Given the description of an element on the screen output the (x, y) to click on. 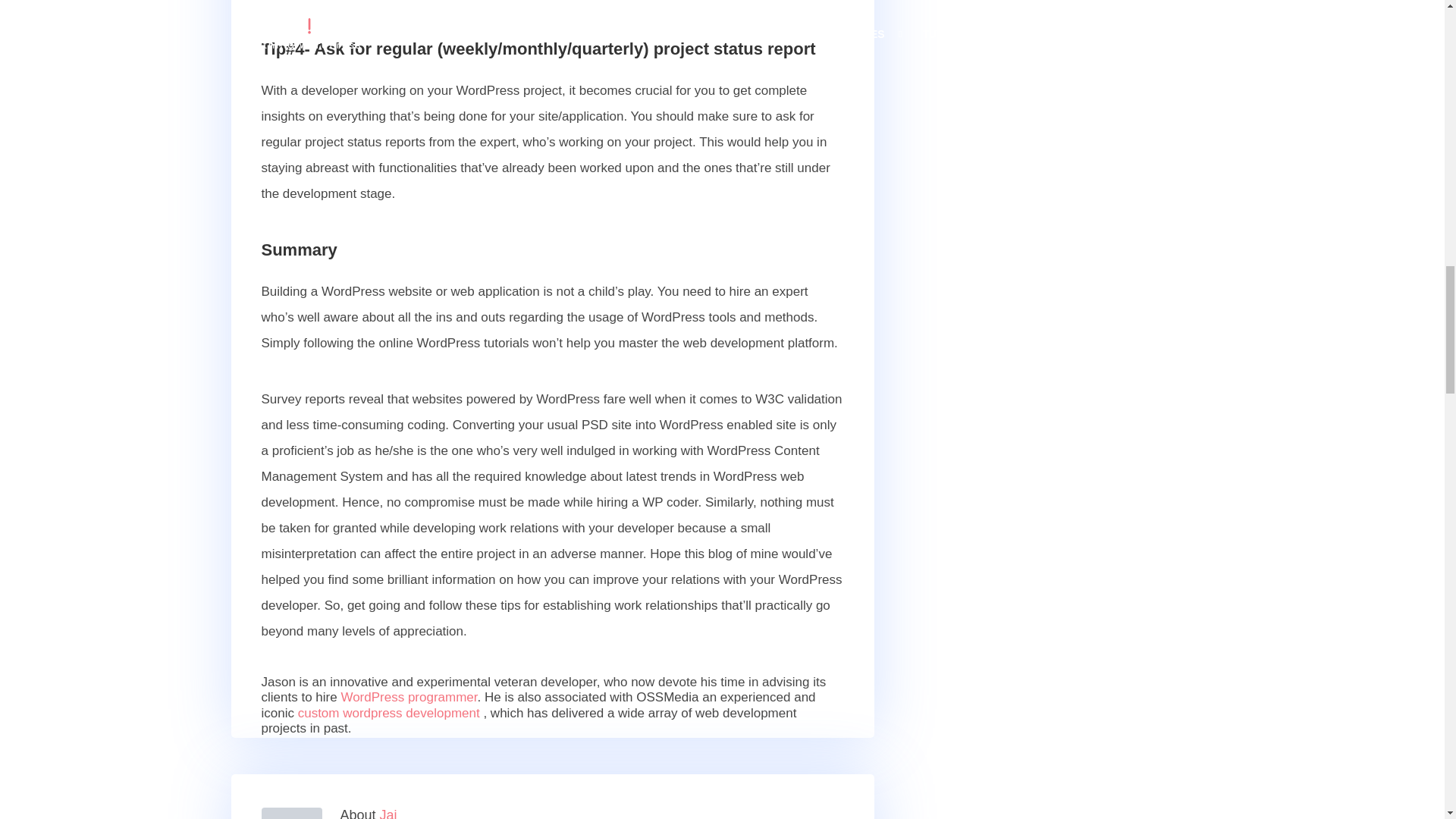
Jai (388, 813)
custom wordpress development (389, 712)
WordPress programmer (408, 697)
